Given the description of an element on the screen output the (x, y) to click on. 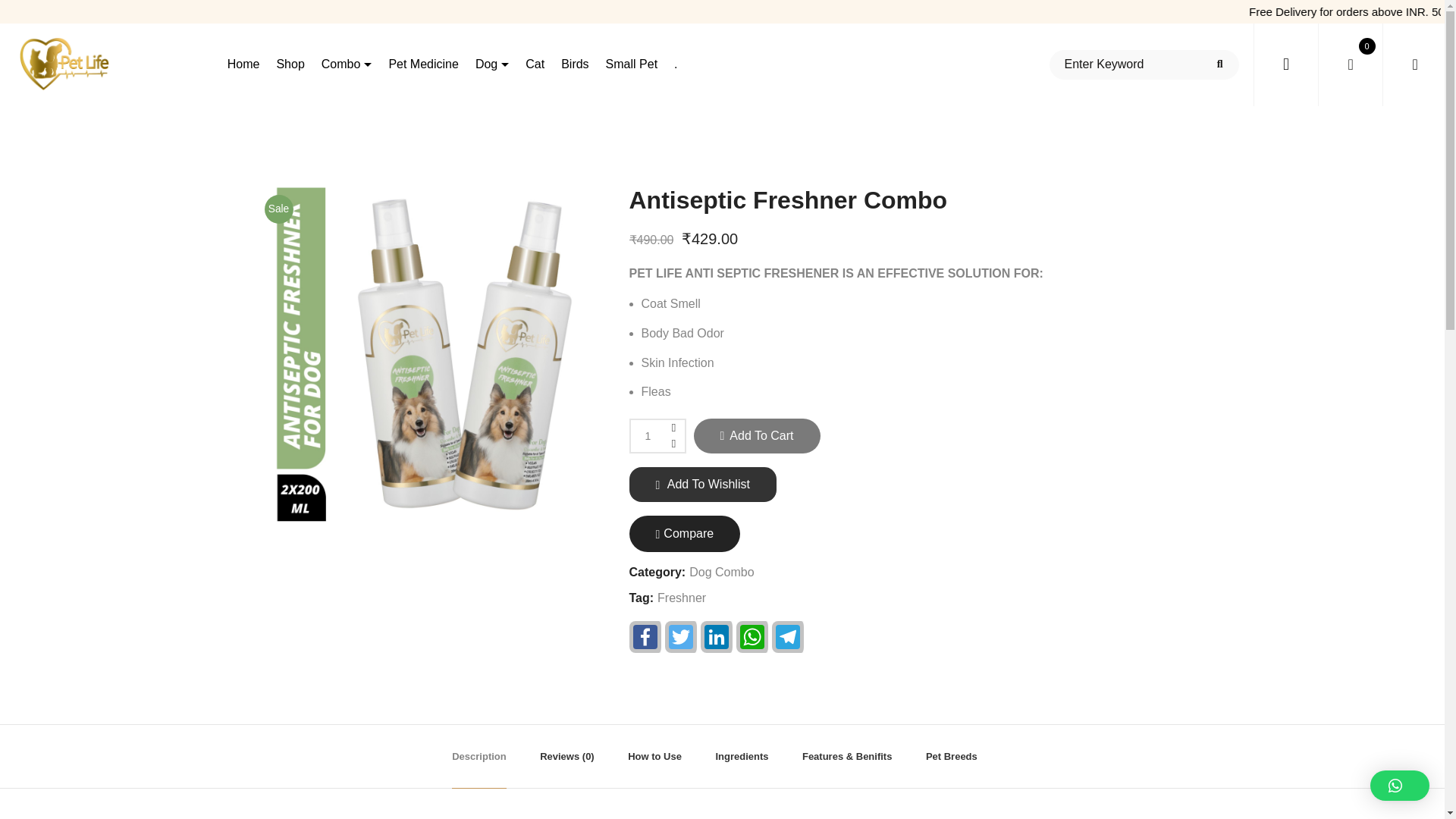
Dog (491, 64)
Cat (534, 64)
Go (1220, 63)
Combo (347, 64)
Enter Keyword (1144, 63)
Go (1220, 63)
Birds (574, 64)
Home (243, 64)
Enter Keyword (1144, 63)
1 (656, 435)
Small Pet (631, 64)
Shop (289, 64)
. (675, 64)
COMBO 12 (424, 354)
Pet Medicine (422, 64)
